Given the description of an element on the screen output the (x, y) to click on. 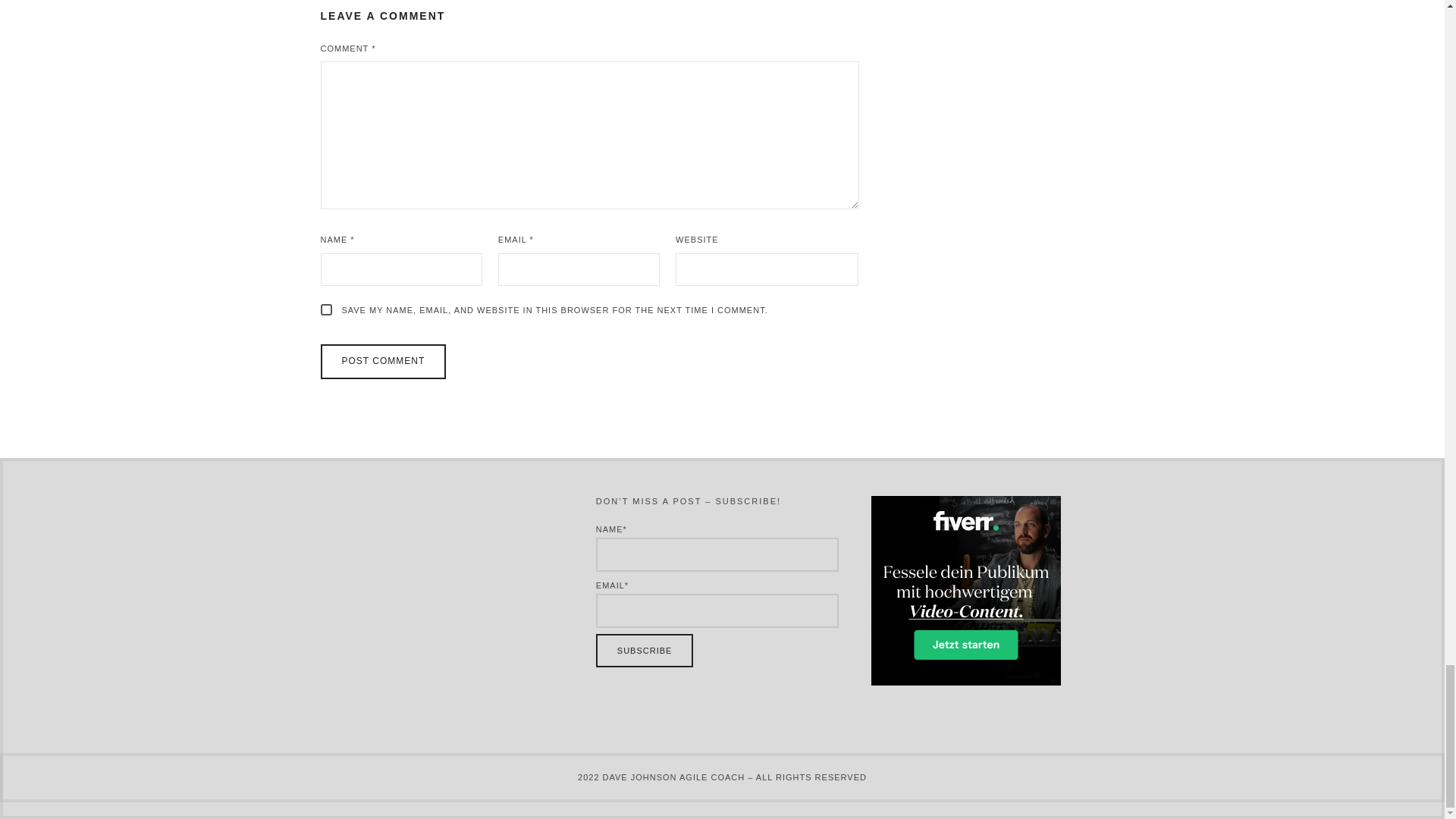
Post Comment (382, 361)
yes (325, 309)
Subscribe (644, 650)
